Given the description of an element on the screen output the (x, y) to click on. 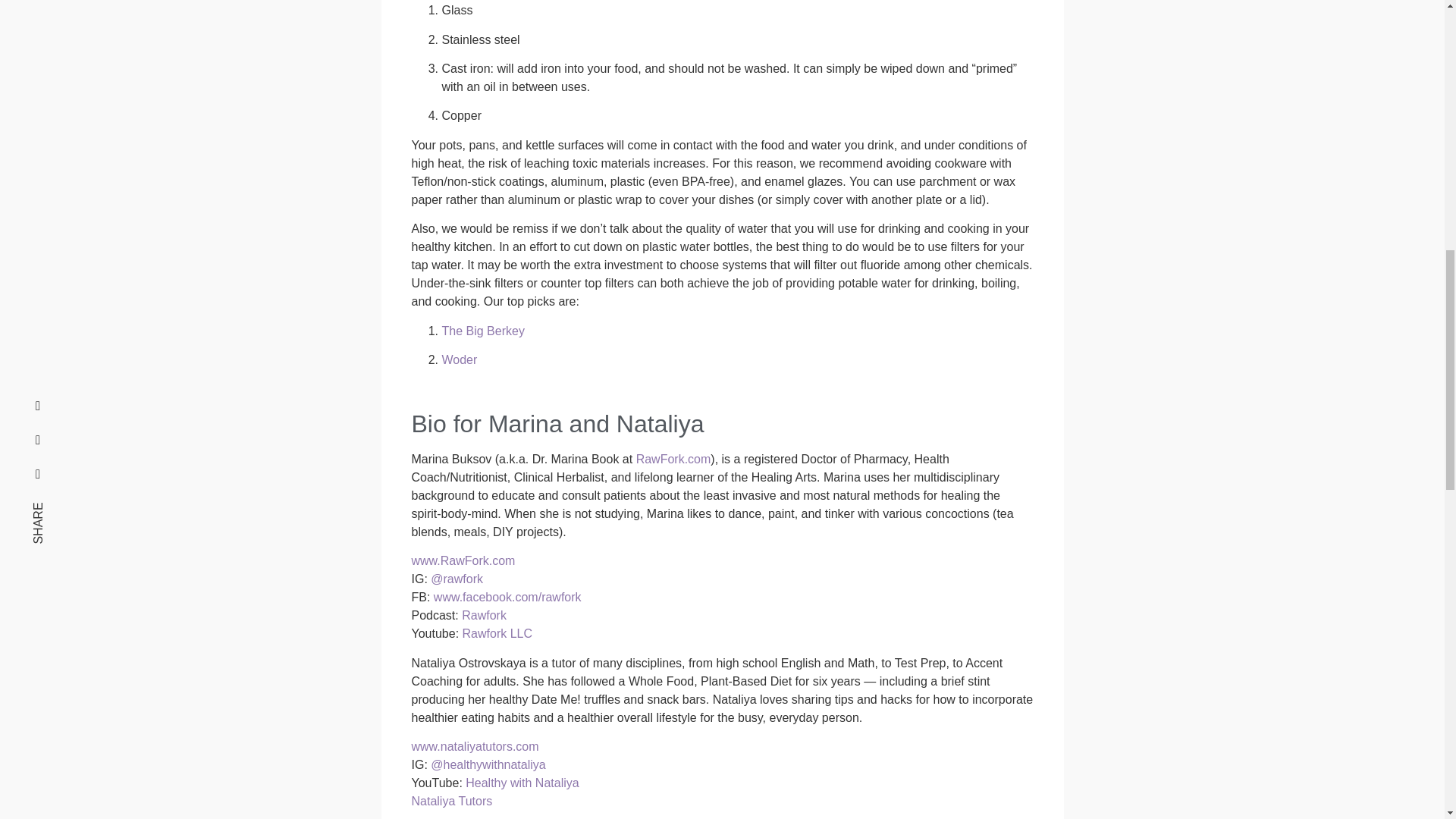
www.RawFork.com (462, 560)
RawFork.com (673, 459)
Rawfork (483, 615)
The Big Berkey (482, 330)
www.nataliyatutors.com (474, 746)
Woder (459, 359)
Rawfork LLC (497, 633)
